Given the description of an element on the screen output the (x, y) to click on. 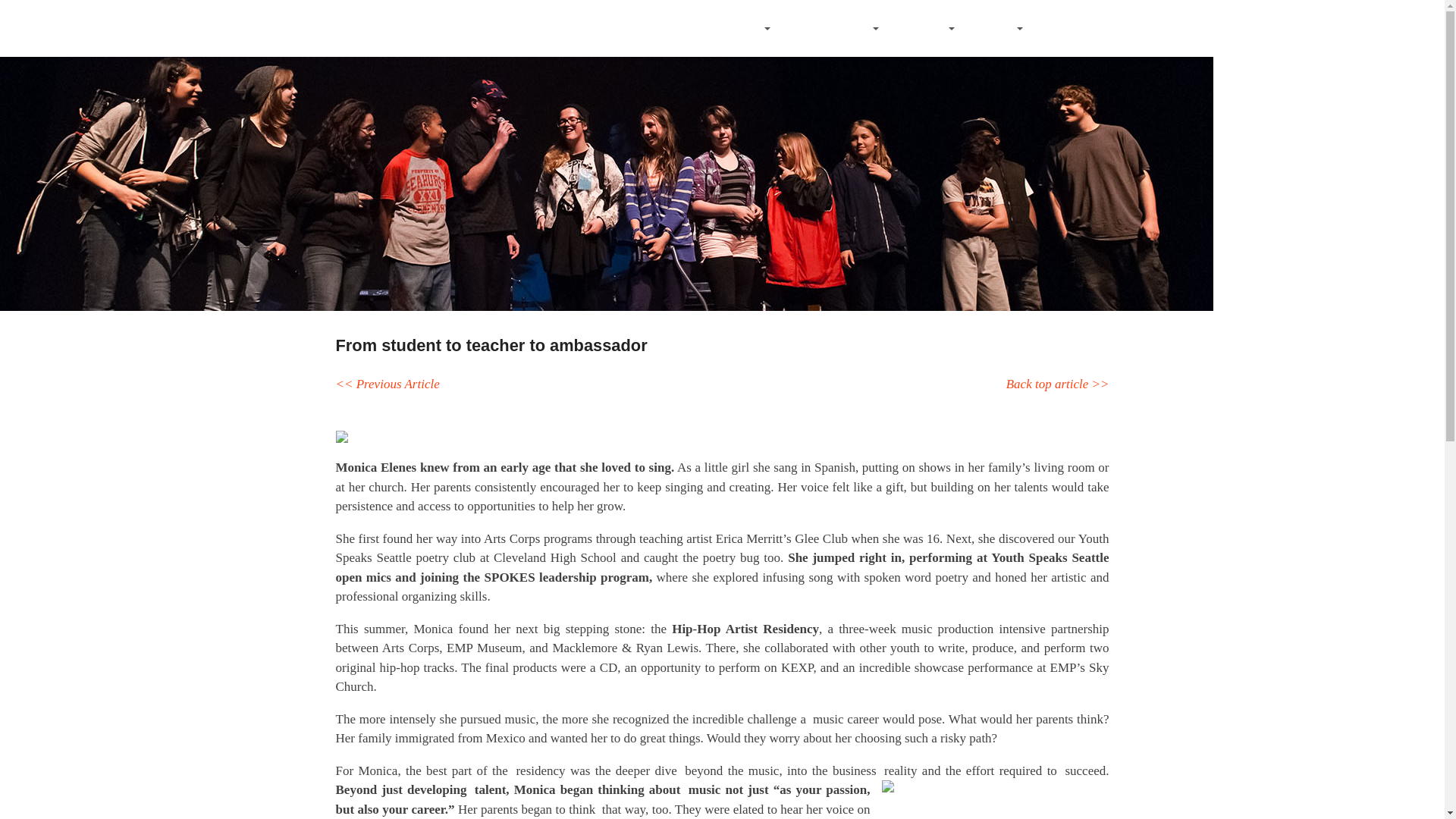
Equity and Social Justice (1057, 383)
2014-2015 Annual Report (386, 383)
HOME (662, 28)
DONATE (1064, 28)
